Given the description of an element on the screen output the (x, y) to click on. 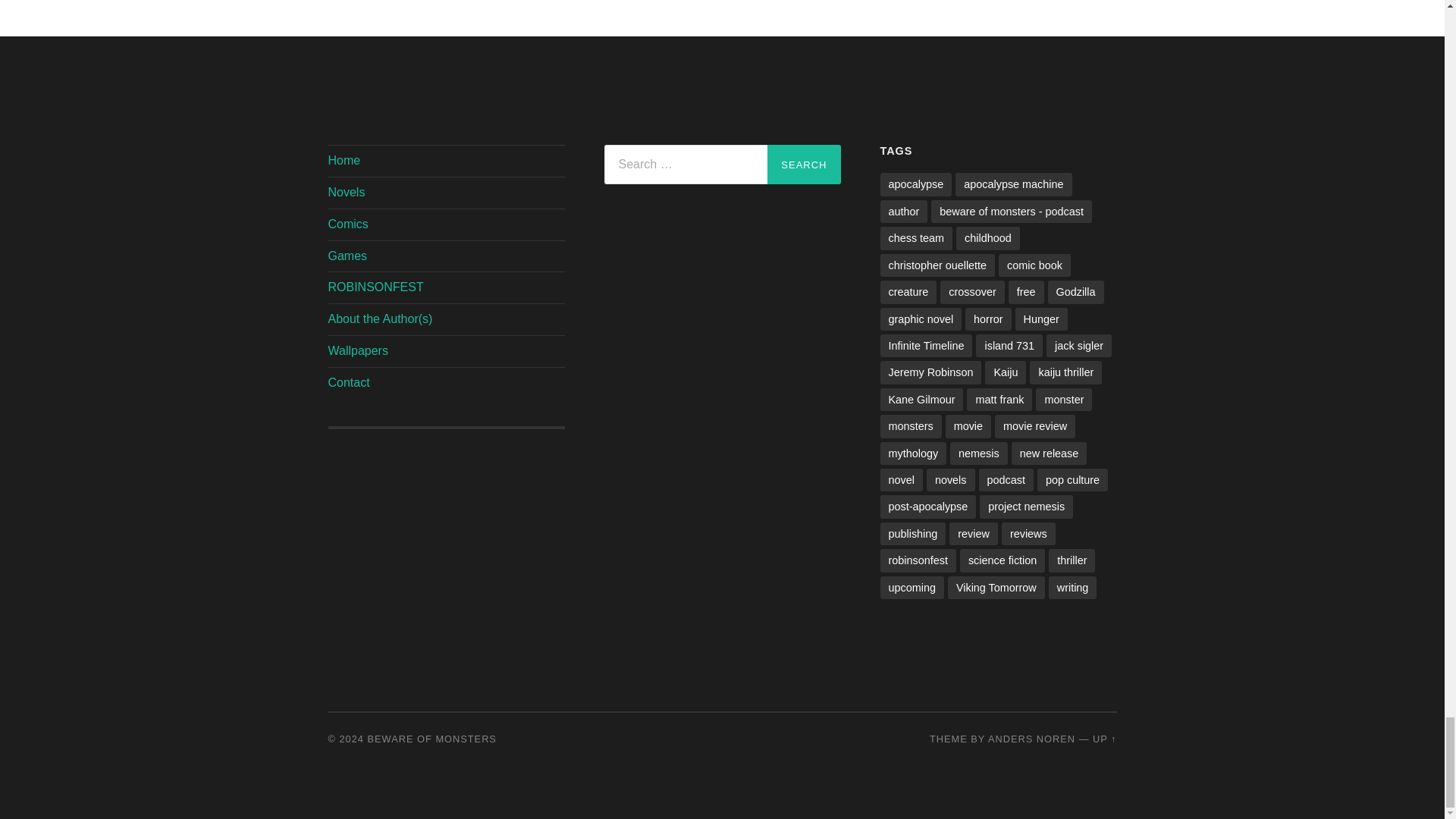
To the top (1104, 738)
Search (803, 164)
Search (803, 164)
